Given the description of an element on the screen output the (x, y) to click on. 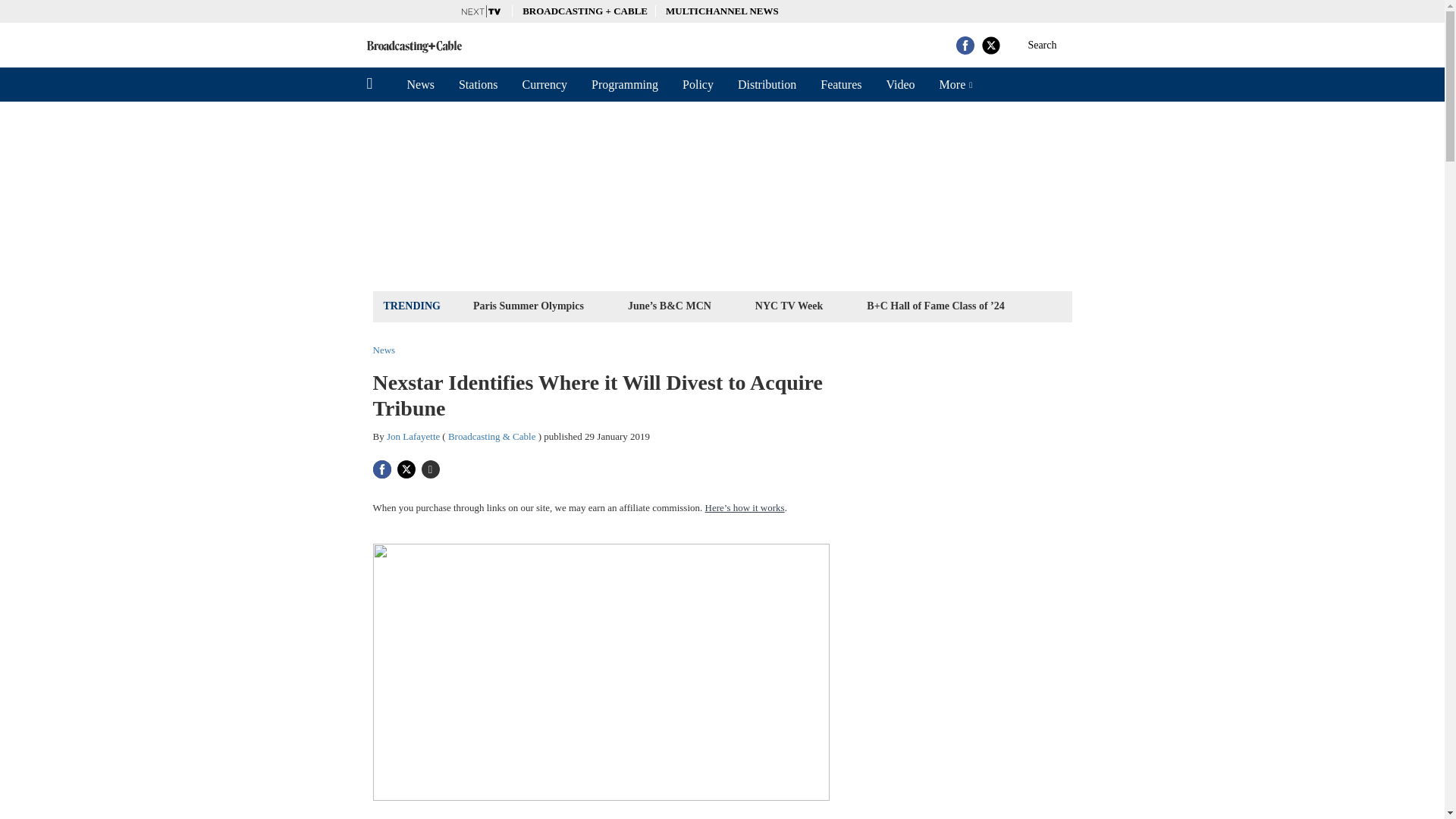
Video (899, 84)
Distribution (766, 84)
NYC TV Week (788, 305)
Programming (624, 84)
Paris Summer Olympics (528, 305)
News (419, 84)
Jon Lafayette (413, 436)
Policy (697, 84)
Features (840, 84)
Currency (544, 84)
